Given the description of an element on the screen output the (x, y) to click on. 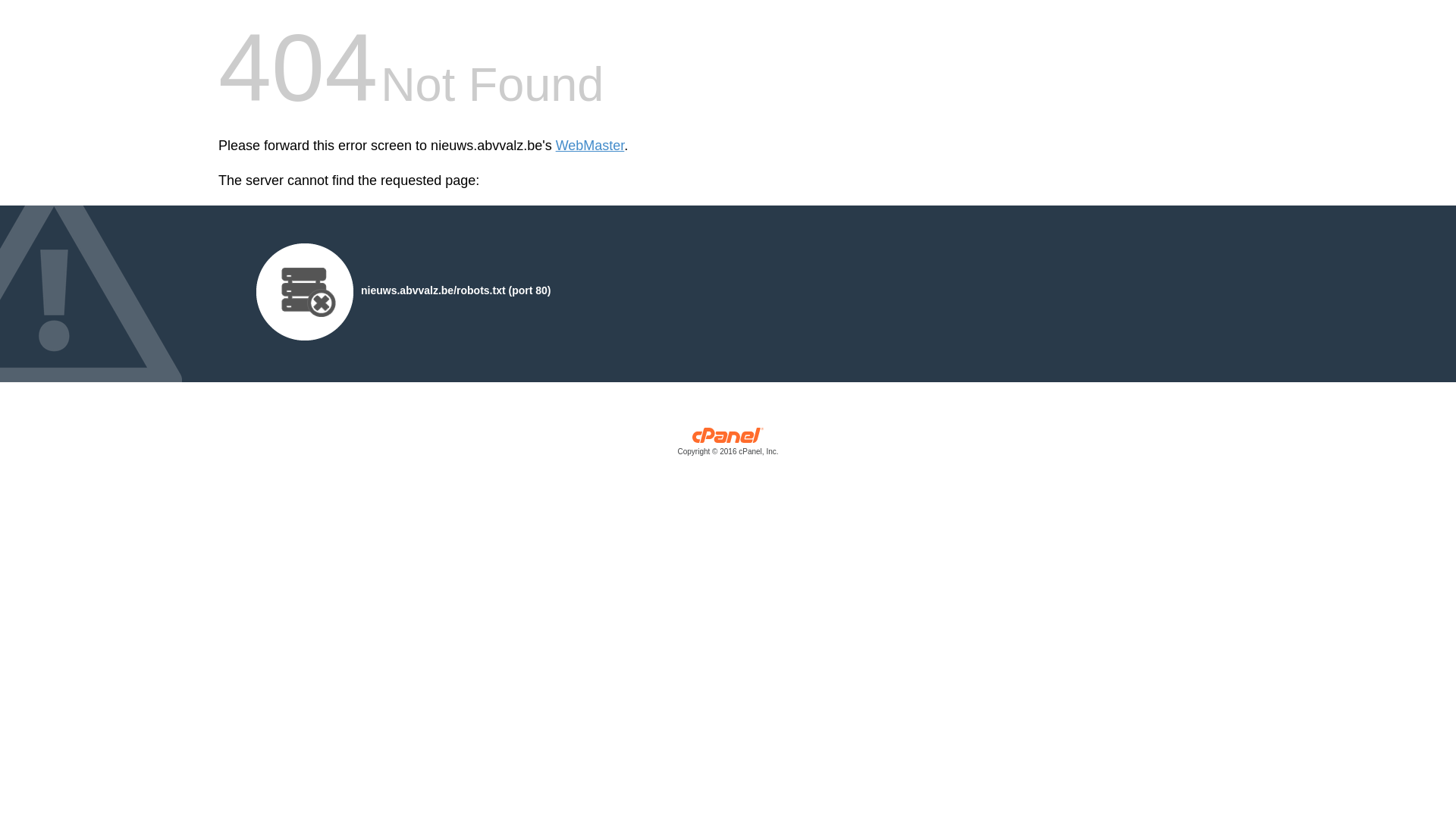
WebMaster Element type: text (589, 145)
